Given the description of an element on the screen output the (x, y) to click on. 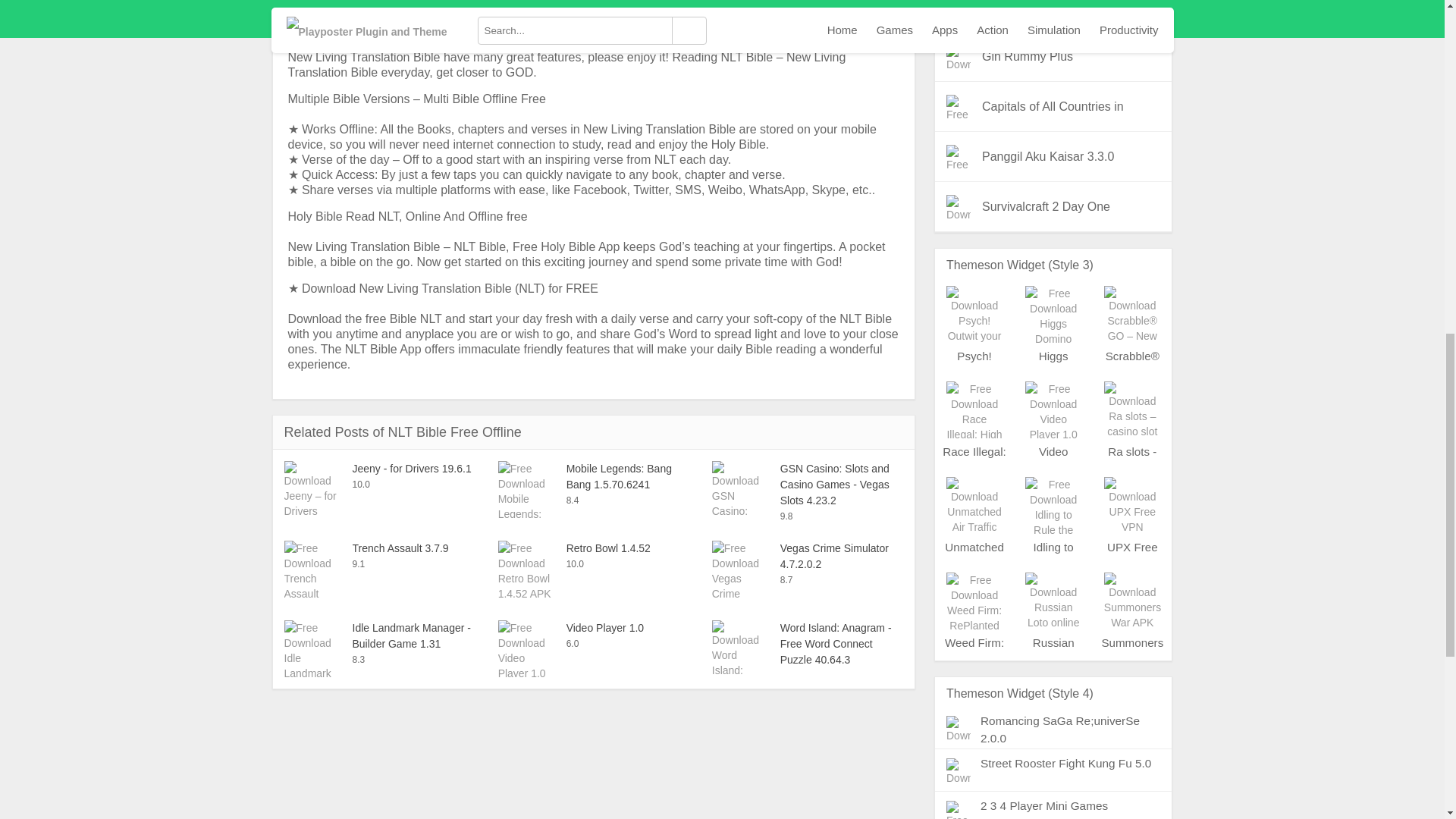
Word Island: Anagram - Free Word Connect Puzzle 40.64.3 (806, 643)
Vegas Crime Simulator 4.7.2.0.2 (806, 556)
Trench Assault 3.7.9 (378, 548)
Retro Bowl 1.4.52 (592, 548)
Video Player 1.0 (592, 627)
GSN Casino: Slots and Casino Games - Vegas Slots 4.23.2 (806, 484)
Idle Landmark Manager - Builder Game 1.31 (378, 635)
Jeeny - for Drivers 19.6.1 (378, 468)
Mobile Legends: Bang Bang 1.5.70.6241 (592, 477)
